Given the description of an element on the screen output the (x, y) to click on. 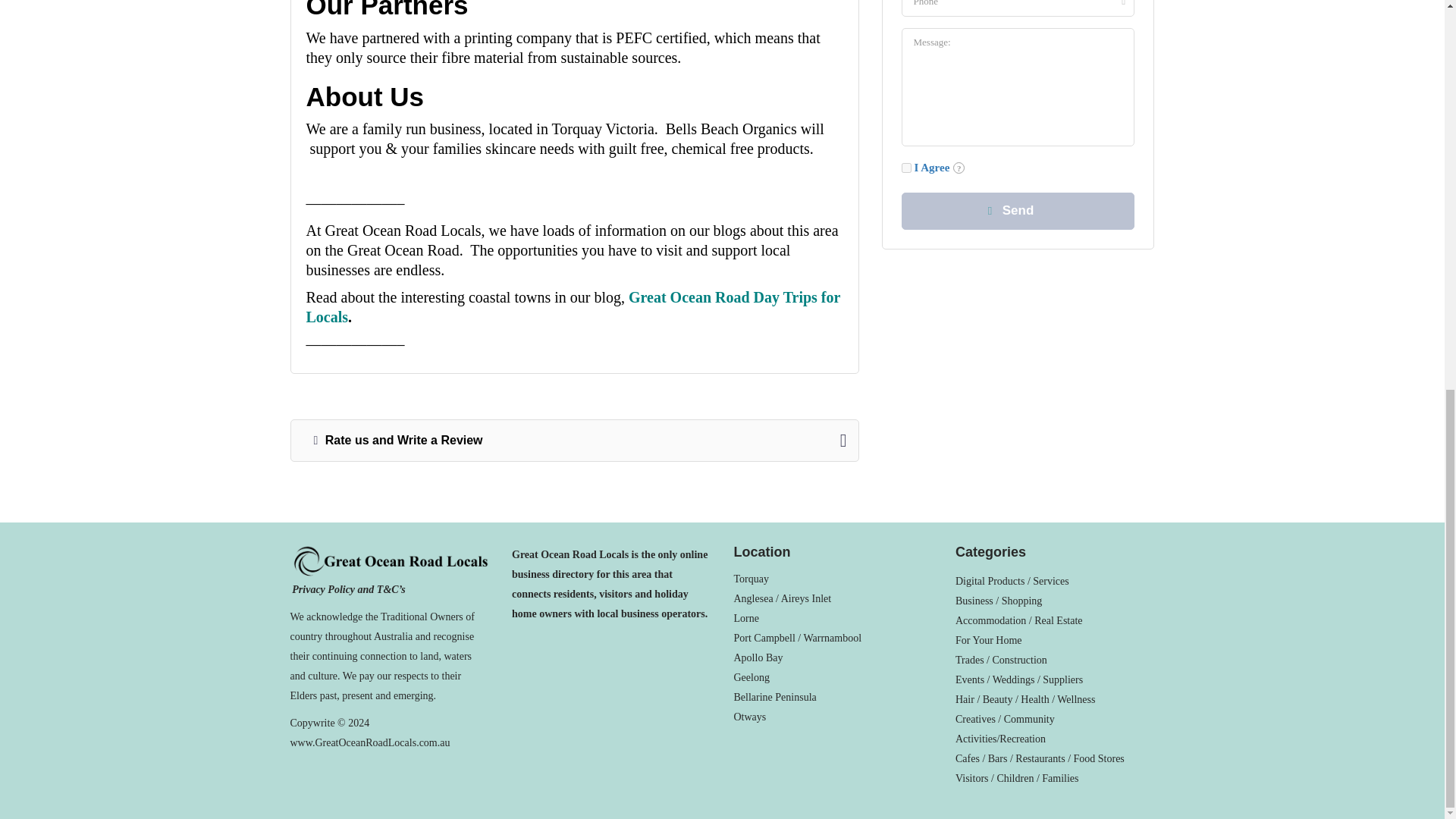
Send (1017, 210)
true (906, 167)
